Given the description of an element on the screen output the (x, y) to click on. 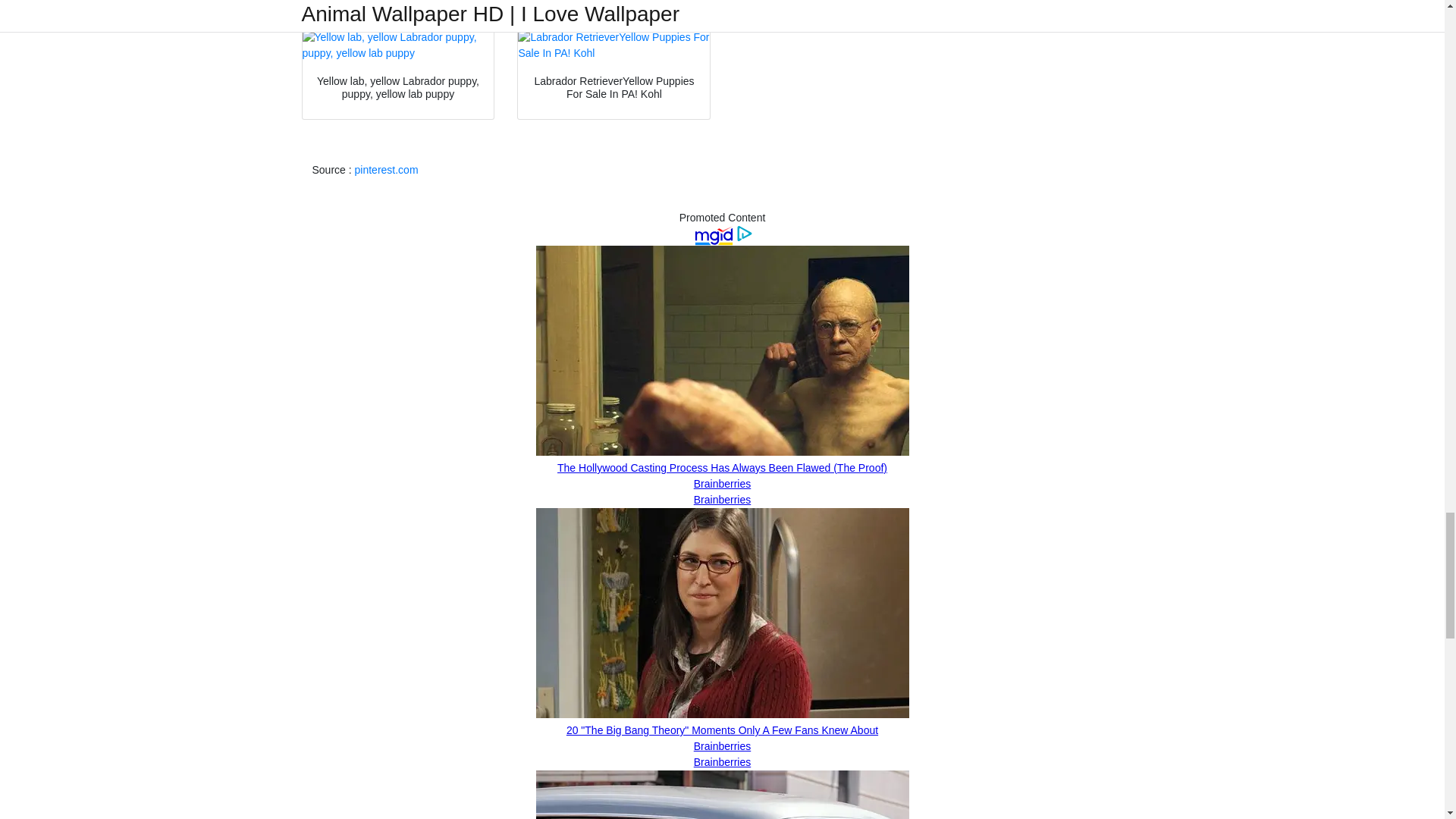
pinterest.com (387, 169)
